Given the description of an element on the screen output the (x, y) to click on. 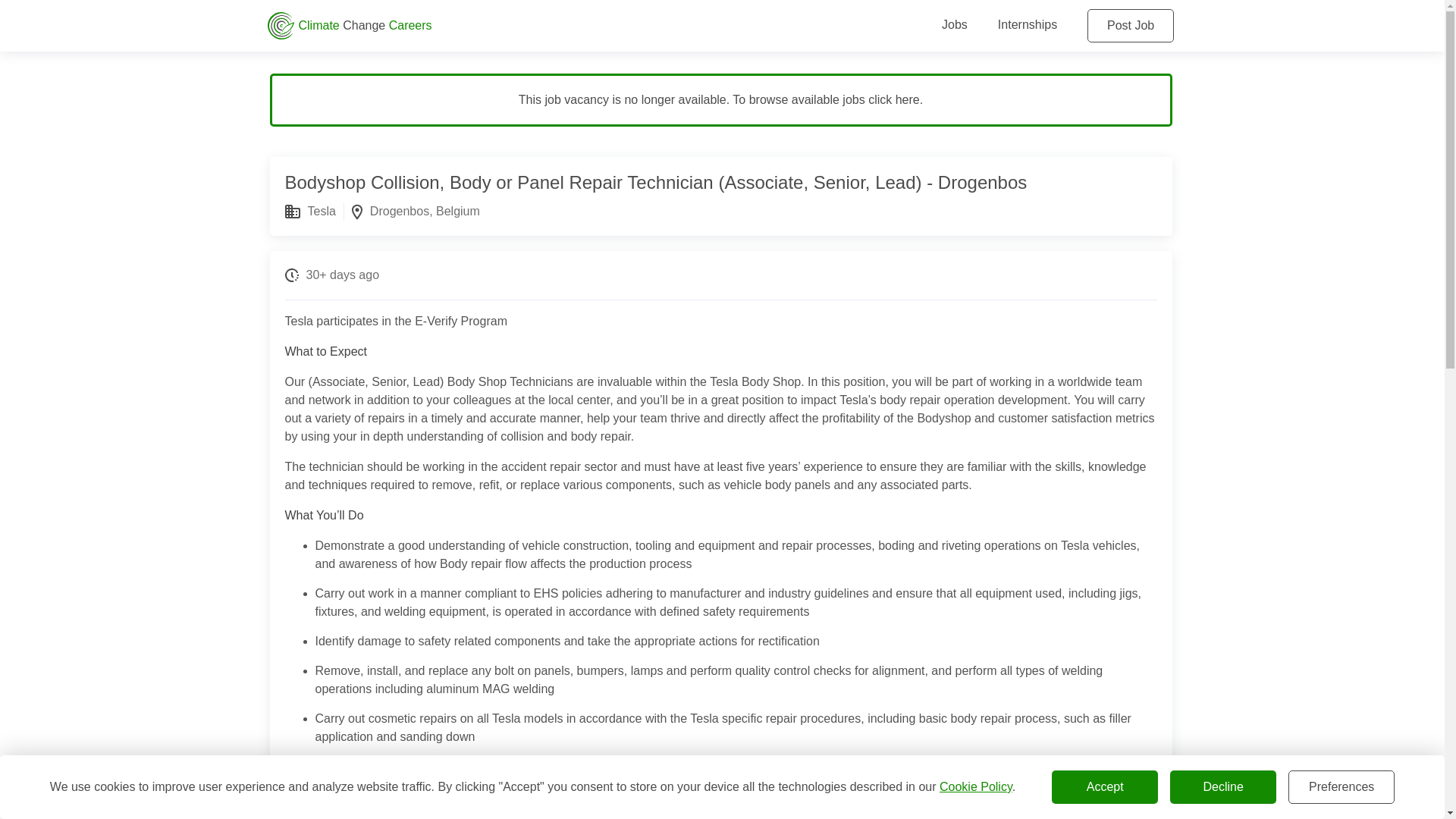
Tesla (321, 210)
Preferences (1341, 786)
Cookie Policy (975, 786)
click here. (895, 99)
Accept (1104, 786)
Post Job (1130, 25)
Jobs (955, 24)
Internships (1027, 24)
Climate Change Careers (569, 25)
Drogenbos, Belgium (424, 210)
